Given the description of an element on the screen output the (x, y) to click on. 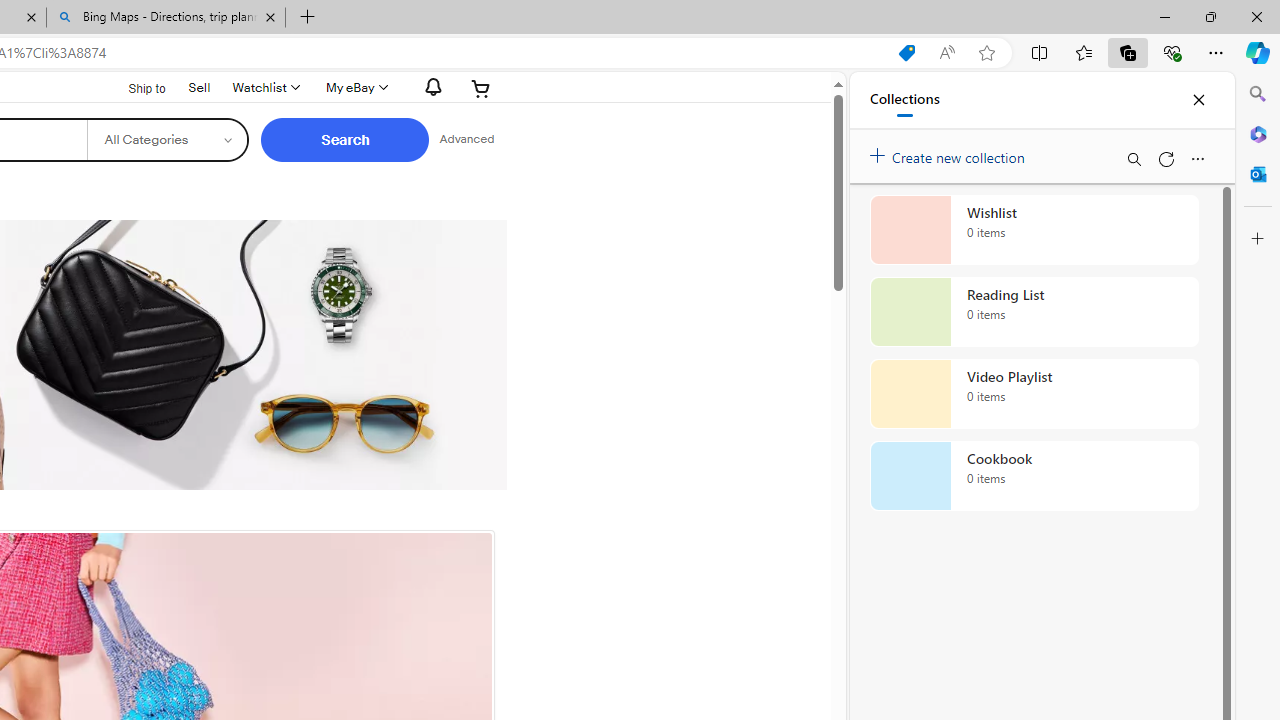
Reading List collection, 0 items (1034, 312)
Advanced Search (466, 139)
Expand Cart (481, 88)
Select a category for search (167, 139)
Your shopping cart (481, 88)
Wishlist collection, 0 items (1034, 229)
WatchlistExpand Watch List (264, 88)
You have the best price! (906, 53)
AutomationID: gh-eb-Alerts (430, 87)
Video Playlist collection, 0 items (1034, 394)
